Given the description of an element on the screen output the (x, y) to click on. 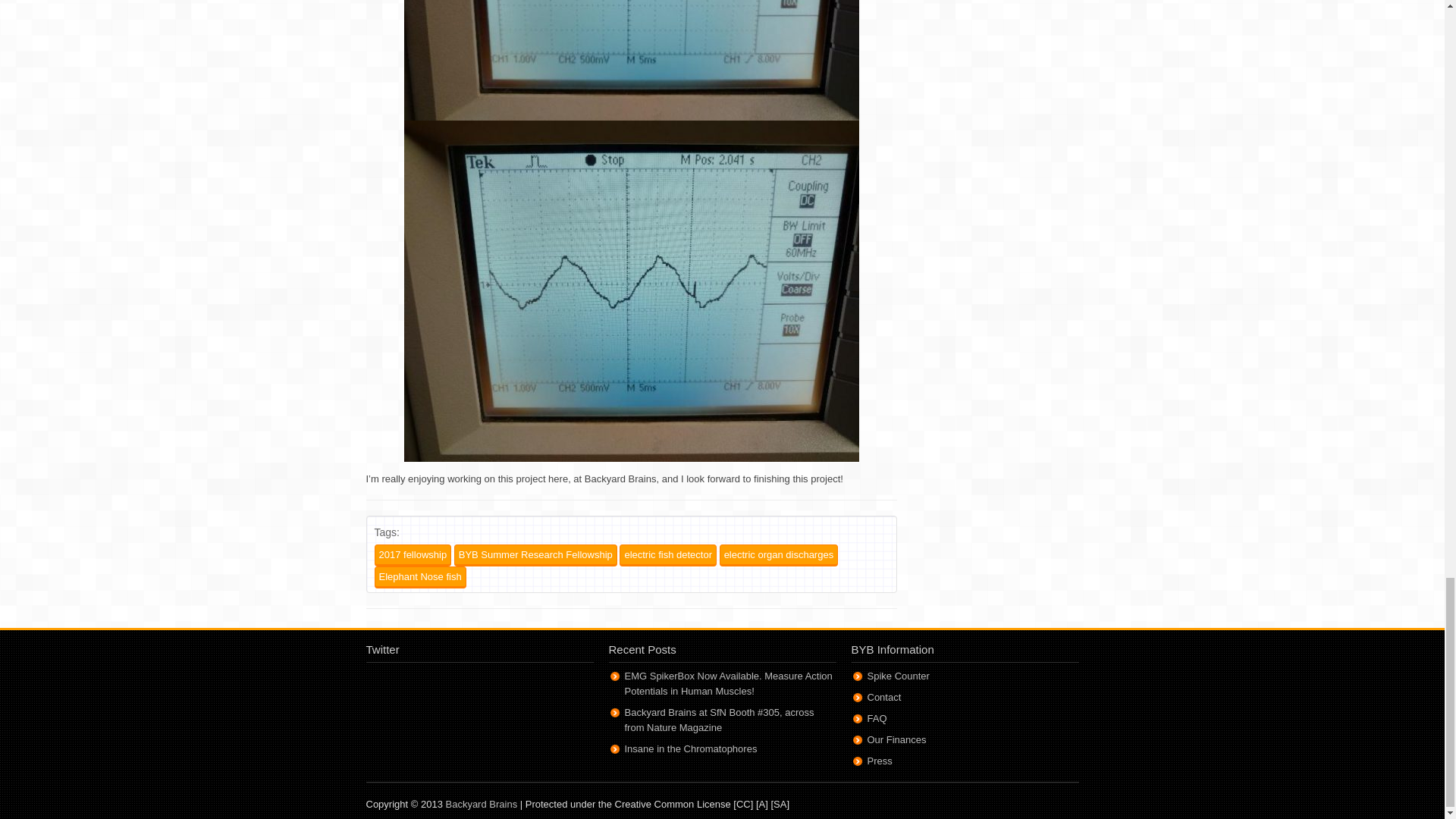
Elephant Nose fish (419, 577)
electric fish detector (668, 555)
2017 fellowship (412, 555)
electric organ discharges (778, 555)
BYB Summer Research Fellowship (535, 555)
